Given the description of an element on the screen output the (x, y) to click on. 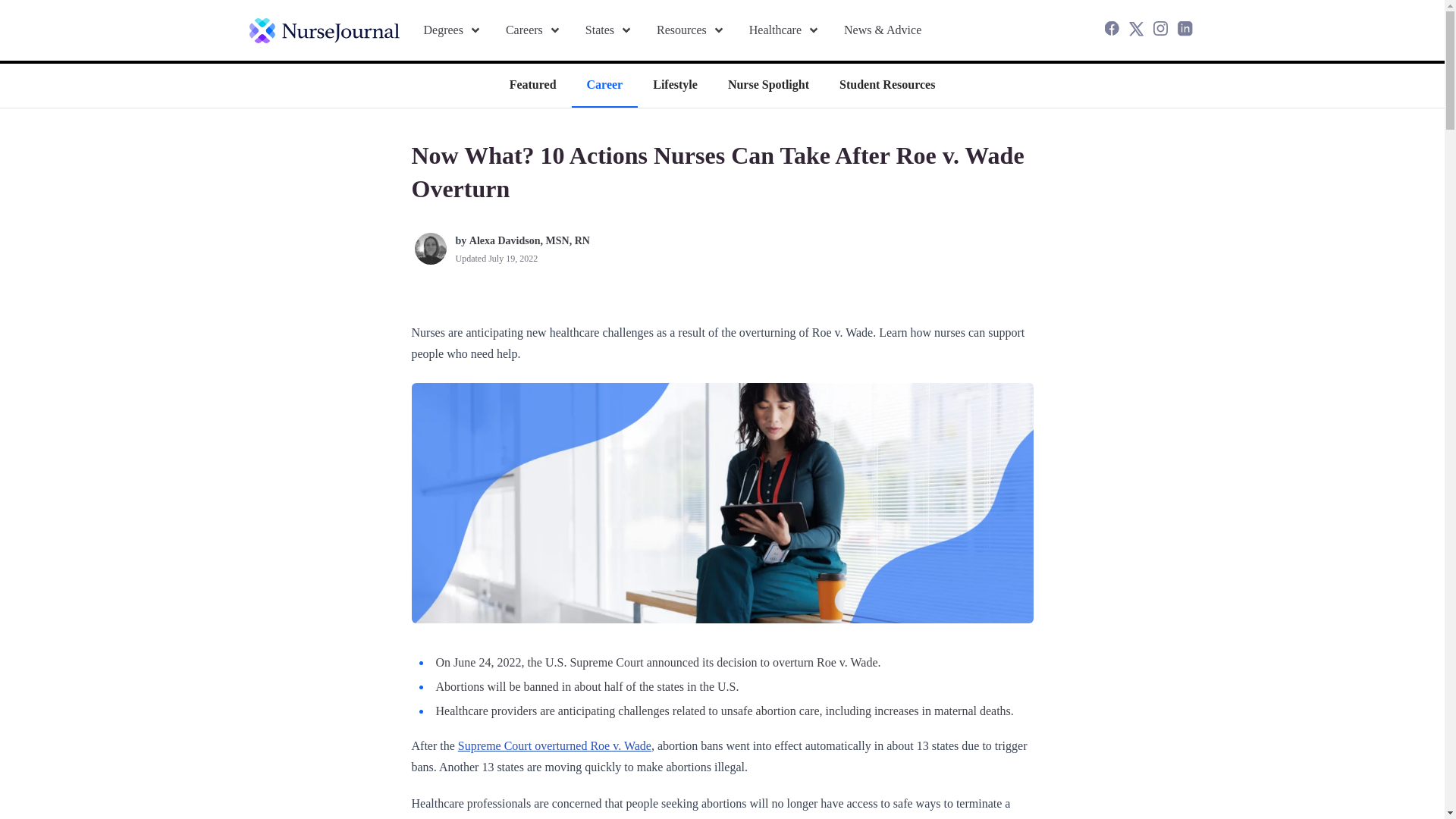
Degrees (451, 30)
Careers (532, 30)
